Given the description of an element on the screen output the (x, y) to click on. 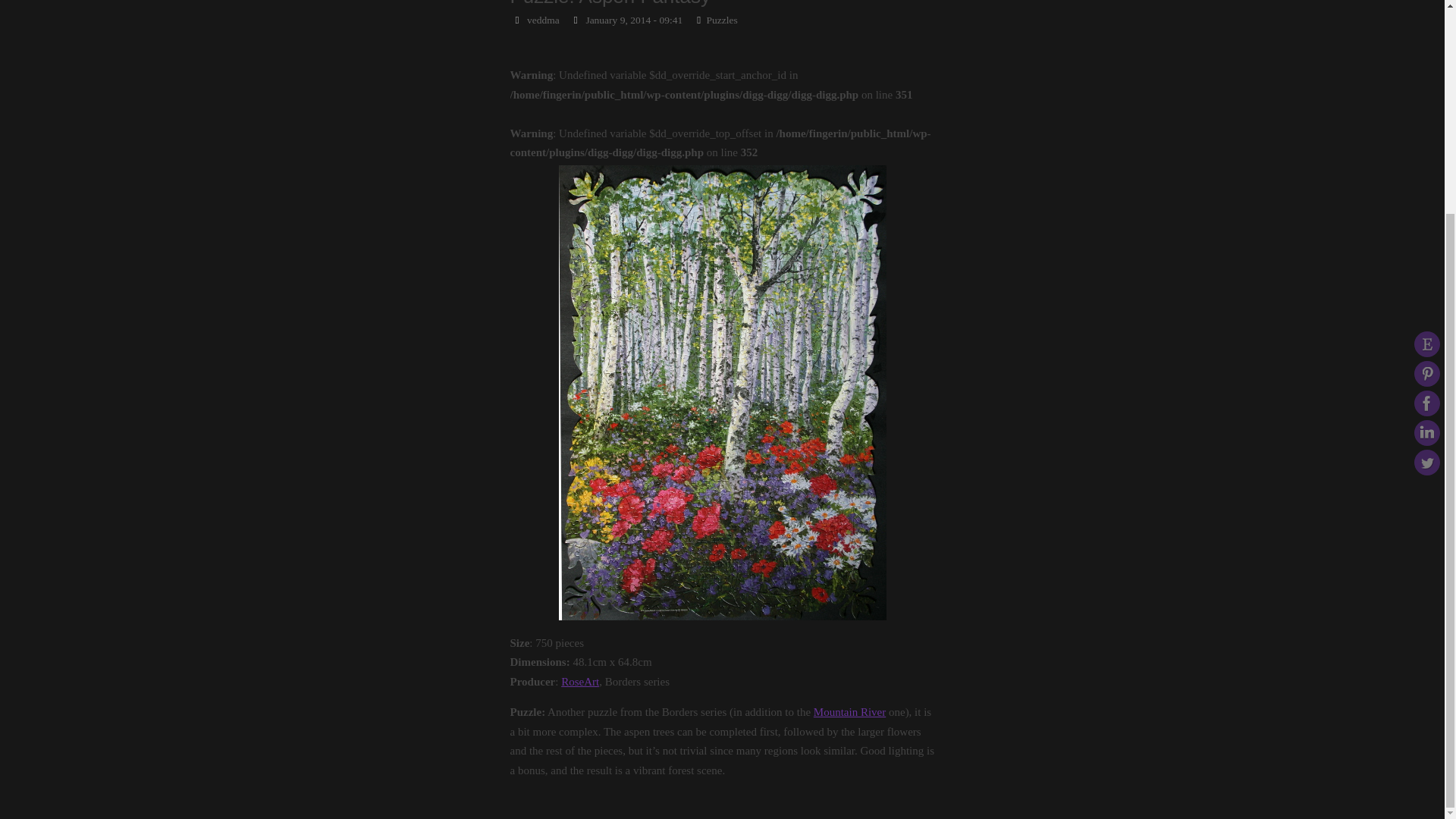
Puzzles (721, 19)
Facebook (1426, 123)
January 9, 2014 - 09:41 (633, 19)
veddma (543, 19)
Pinterest (1426, 94)
Mountain River (849, 711)
Fingering Zen (722, 8)
Twitter (1426, 182)
Etsy (1426, 63)
RoseArt (579, 681)
